Given the description of an element on the screen output the (x, y) to click on. 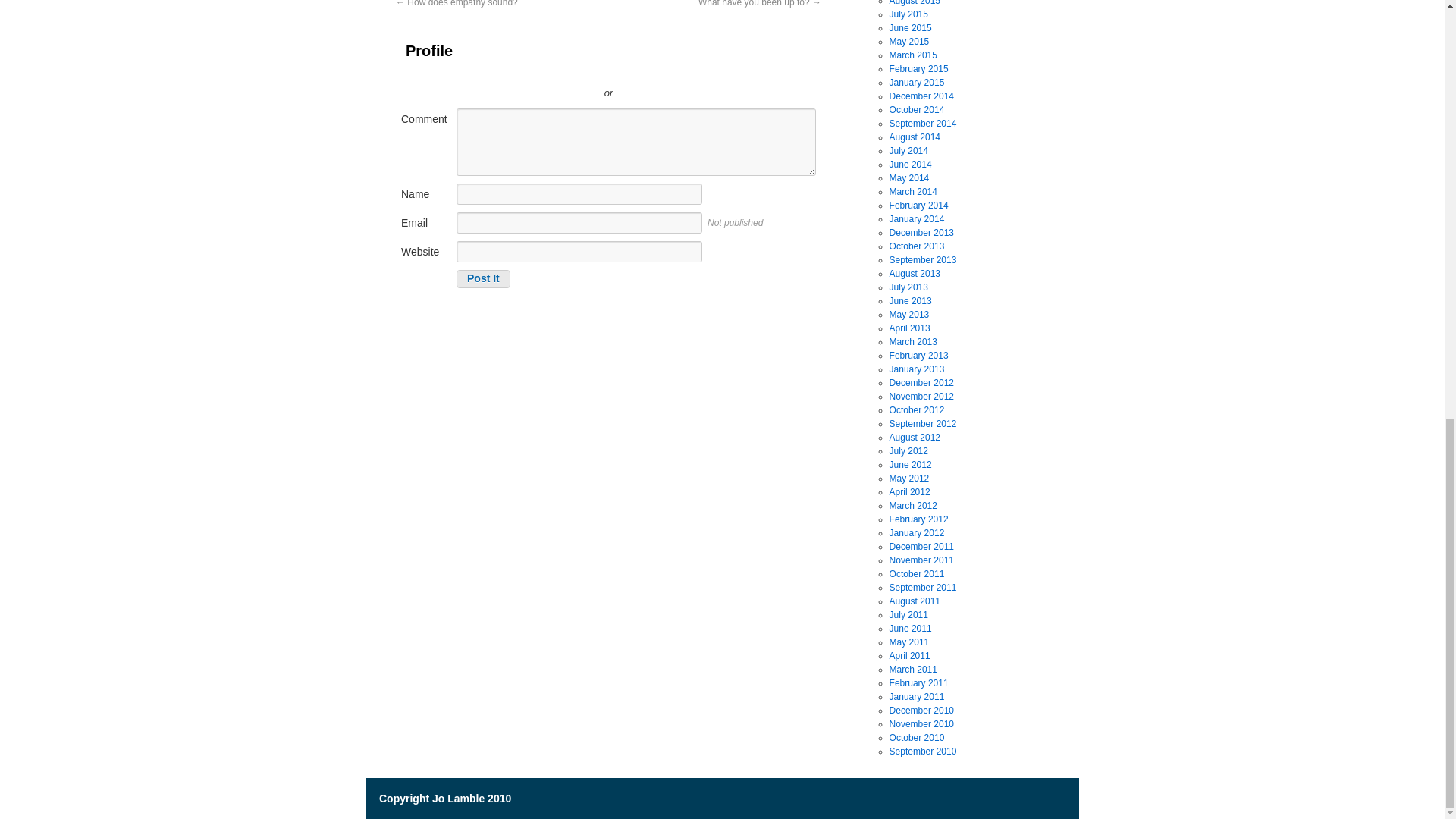
Jo Lamble (444, 798)
Sign in with Facebook (676, 70)
Post It (484, 279)
Post It (484, 279)
Sign in with Twitter (539, 70)
